Given the description of an element on the screen output the (x, y) to click on. 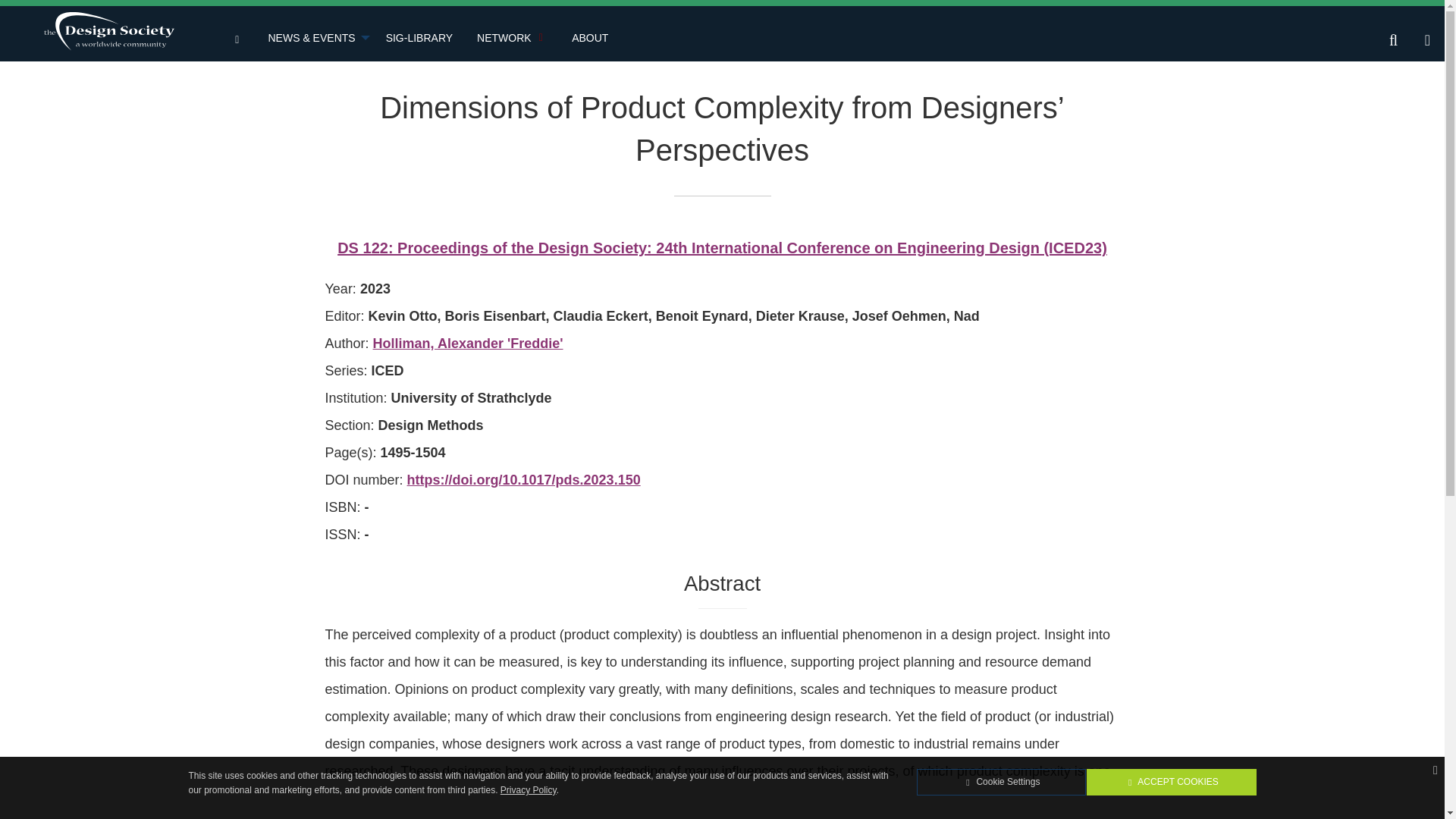
SIG-LIBRARY (419, 38)
NETWORK (511, 38)
ABOUT (589, 38)
ACCEPT COOKIES (1171, 782)
Privacy Policy (528, 789)
Holliman, Alexander 'Freddie' (467, 343)
Cookie Settings (1000, 782)
